Given the description of an element on the screen output the (x, y) to click on. 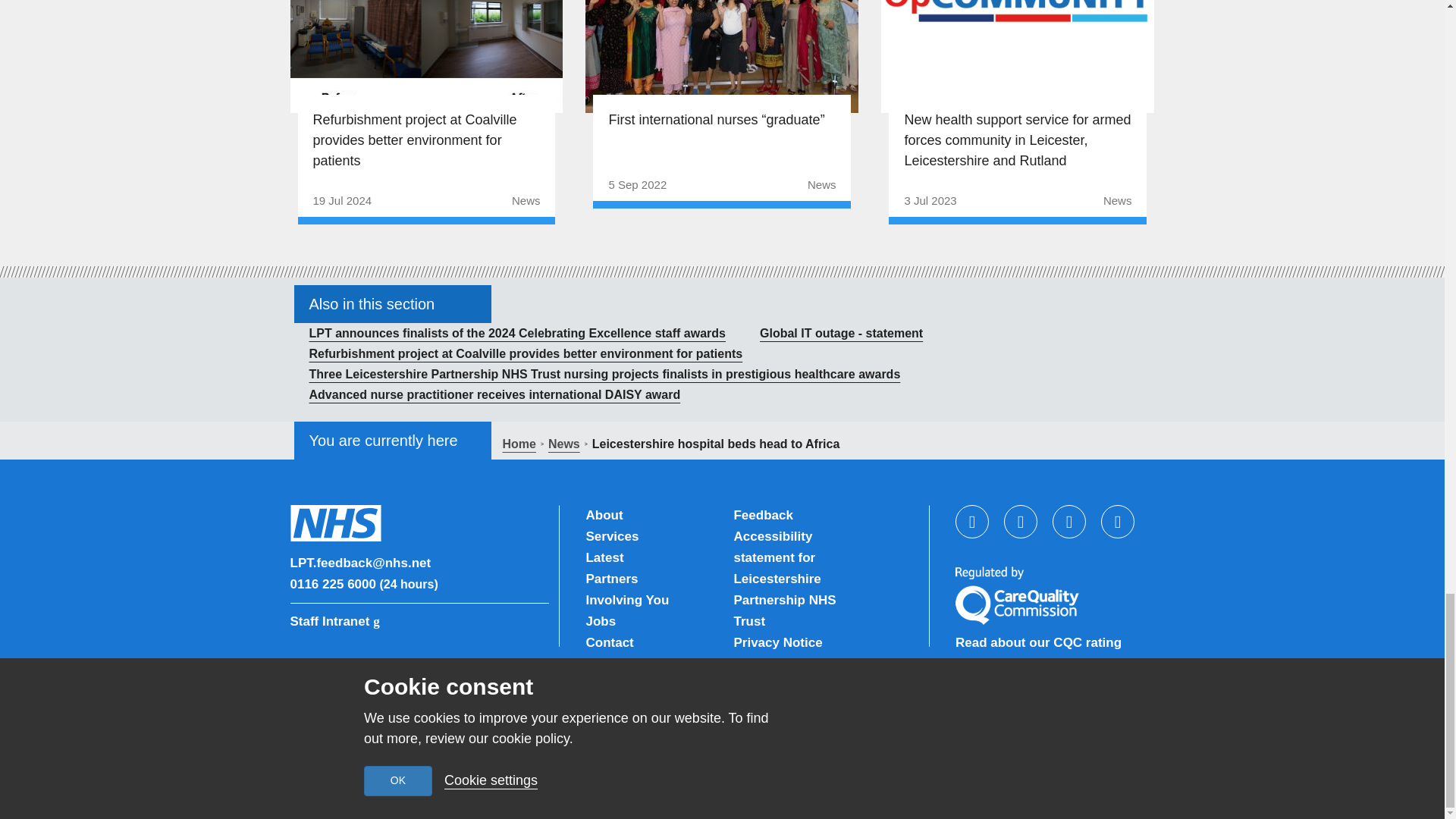
Go to Leicestershire Partnership NHS Trust. (519, 443)
